Given the description of an element on the screen output the (x, y) to click on. 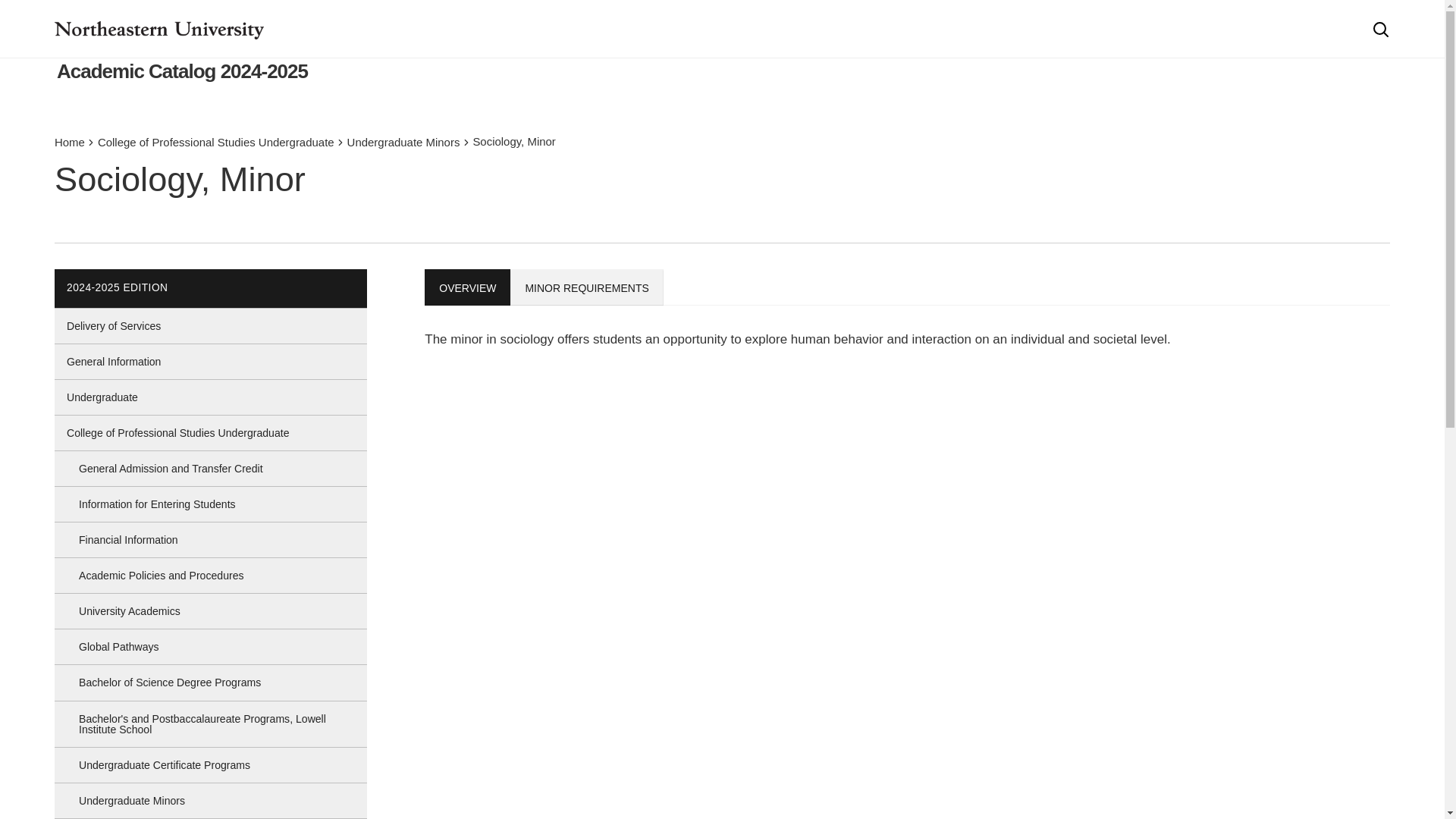
Information for Entering Students (210, 503)
Financial Information (210, 539)
Undergraduate Minors (210, 800)
2024-2025 EDITION (117, 287)
Academic Catalog 2024-2025 (181, 71)
Undergraduate Minors (403, 142)
Home (69, 142)
Undergraduate Certificate Programs (210, 764)
Toggle Search Visibility (1380, 28)
Global Pathways (210, 646)
College of Professional Studies Undergraduate (215, 142)
General Information (210, 361)
Bachelor of Science Degree Programs (210, 682)
Delivery of Services (210, 325)
